Given the description of an element on the screen output the (x, y) to click on. 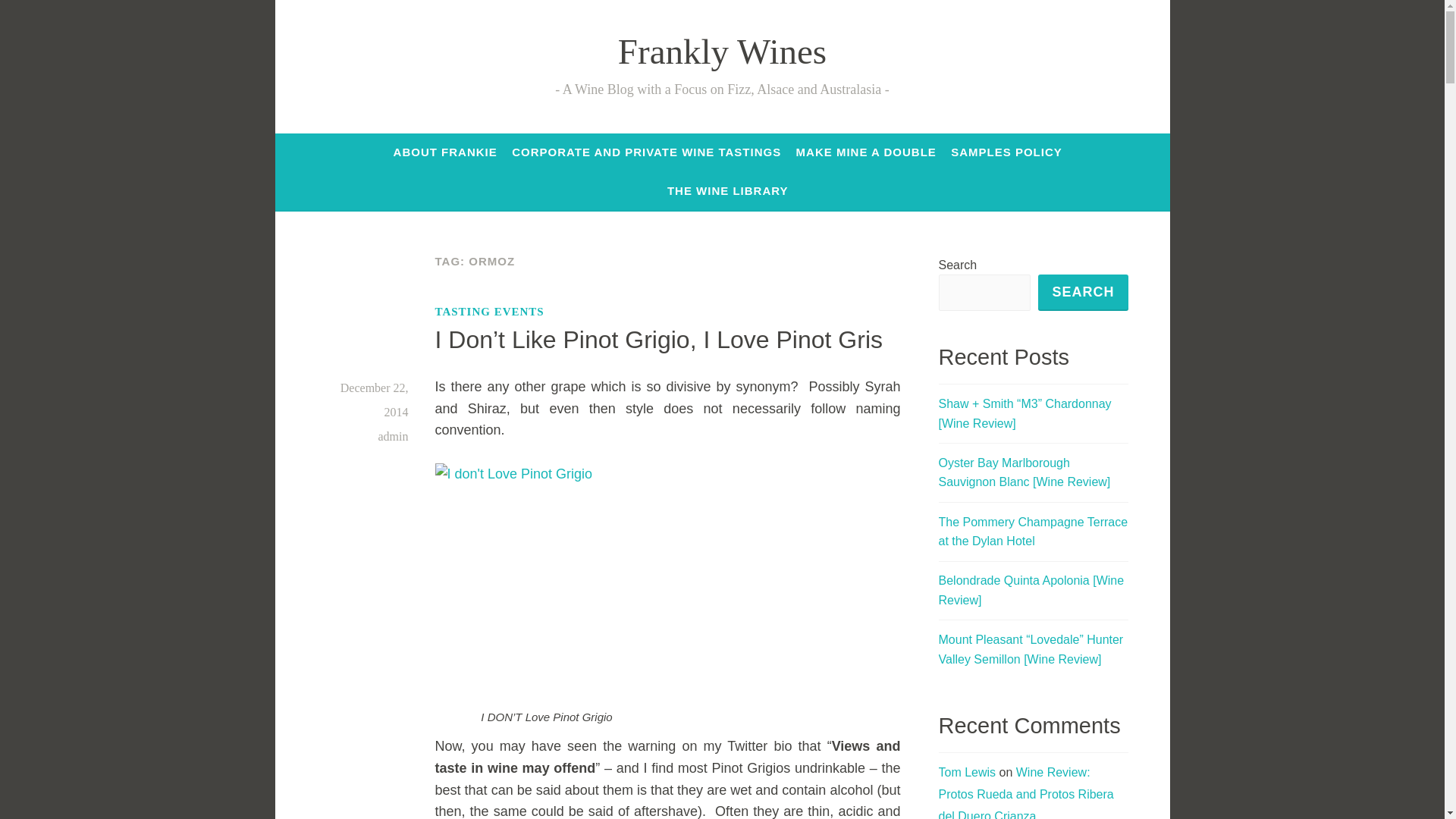
THE WINE LIBRARY (727, 190)
The Pommery Champagne Terrace at the Dylan Hotel (1033, 531)
ABOUT FRANKIE (445, 152)
Frankly Wines (722, 51)
SAMPLES POLICY (1006, 152)
December 22, 2014 (374, 399)
CORPORATE AND PRIVATE WINE TASTINGS (646, 152)
MAKE MINE A DOUBLE (866, 152)
Tom Lewis (967, 771)
